Given the description of an element on the screen output the (x, y) to click on. 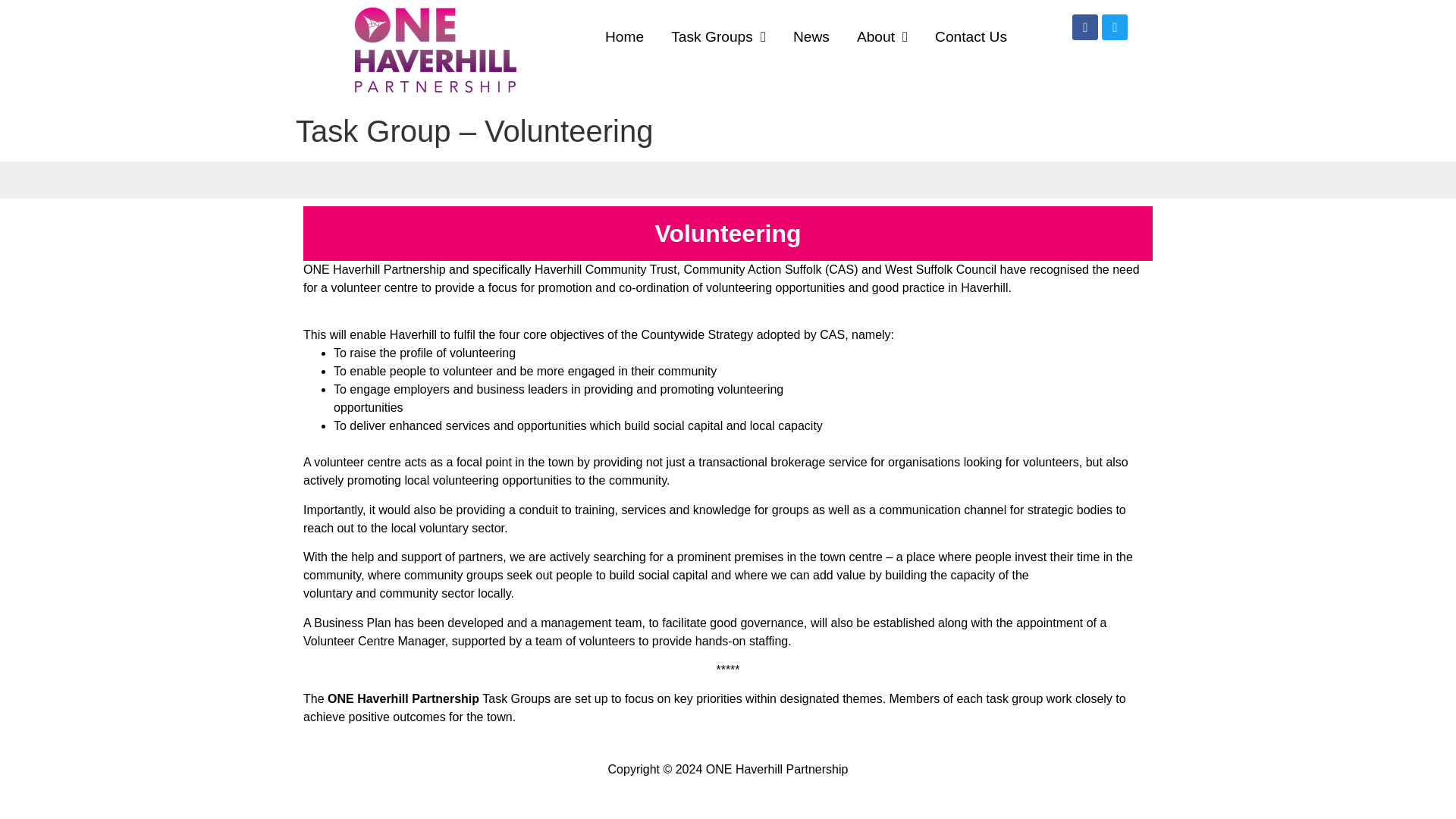
News (810, 36)
Task Groups (718, 36)
About (882, 36)
Home (624, 36)
Contact Us (970, 36)
